Given the description of an element on the screen output the (x, y) to click on. 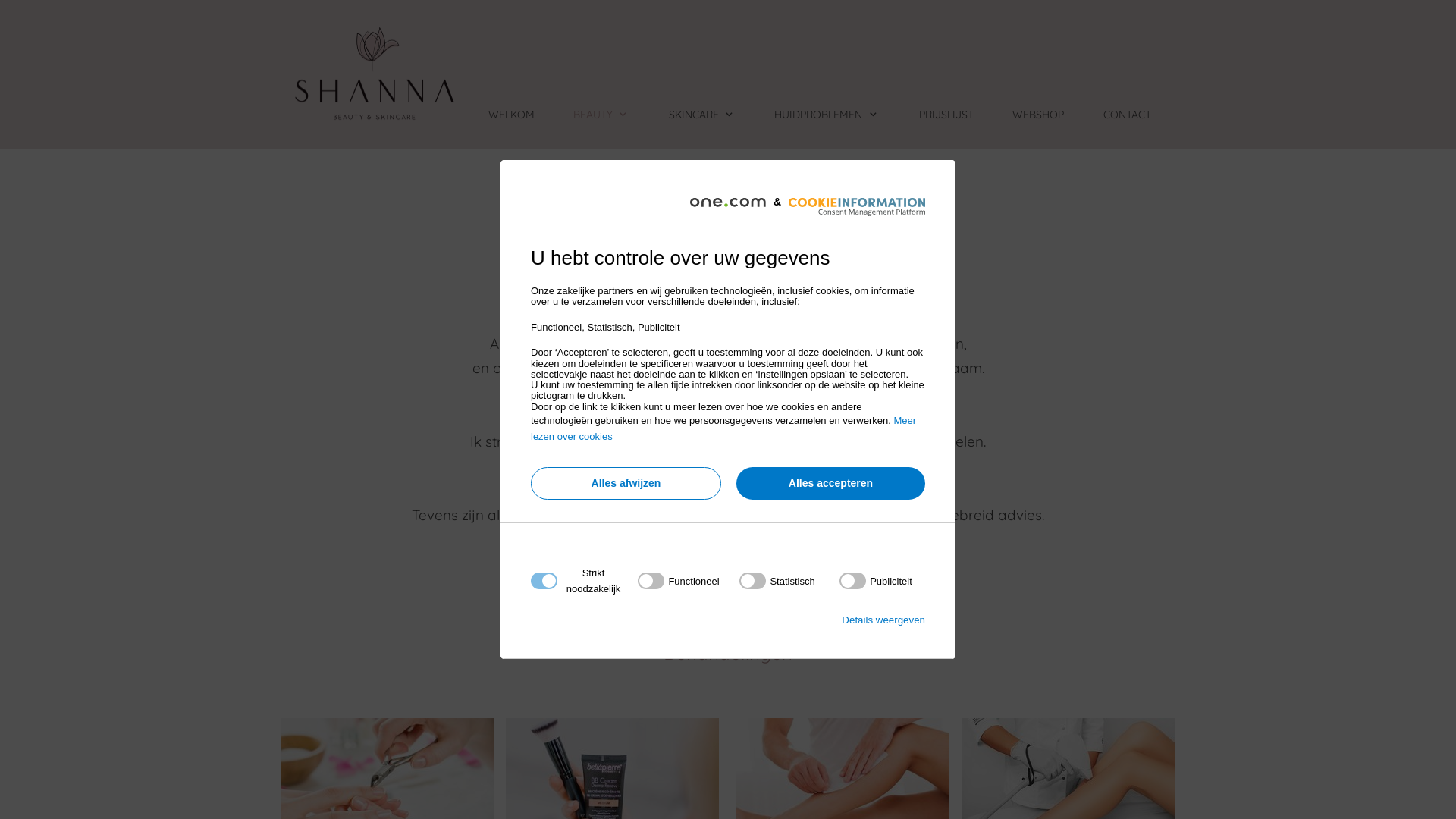
Strikt noodzakelijk Element type: text (723, 673)
on Element type: text (776, 580)
PRIJSLIJST Element type: text (935, 126)
on Element type: text (677, 580)
Functioneel Element type: text (723, 763)
WEBSHOP Element type: text (1027, 126)
Alles accepteren Element type: text (830, 483)
Alles afwijzen Element type: text (625, 483)
on Element type: text (875, 580)
Details weergeven Element type: text (883, 619)
BEAUTY Element type: text (590, 126)
Meer lezen over cookies Element type: text (723, 428)
HUIDPROBLEMEN Element type: text (815, 126)
CONTACT Element type: text (1116, 126)
WELKOM Element type: text (500, 126)
SKINCARE Element type: text (691, 126)
